Given the description of an element on the screen output the (x, y) to click on. 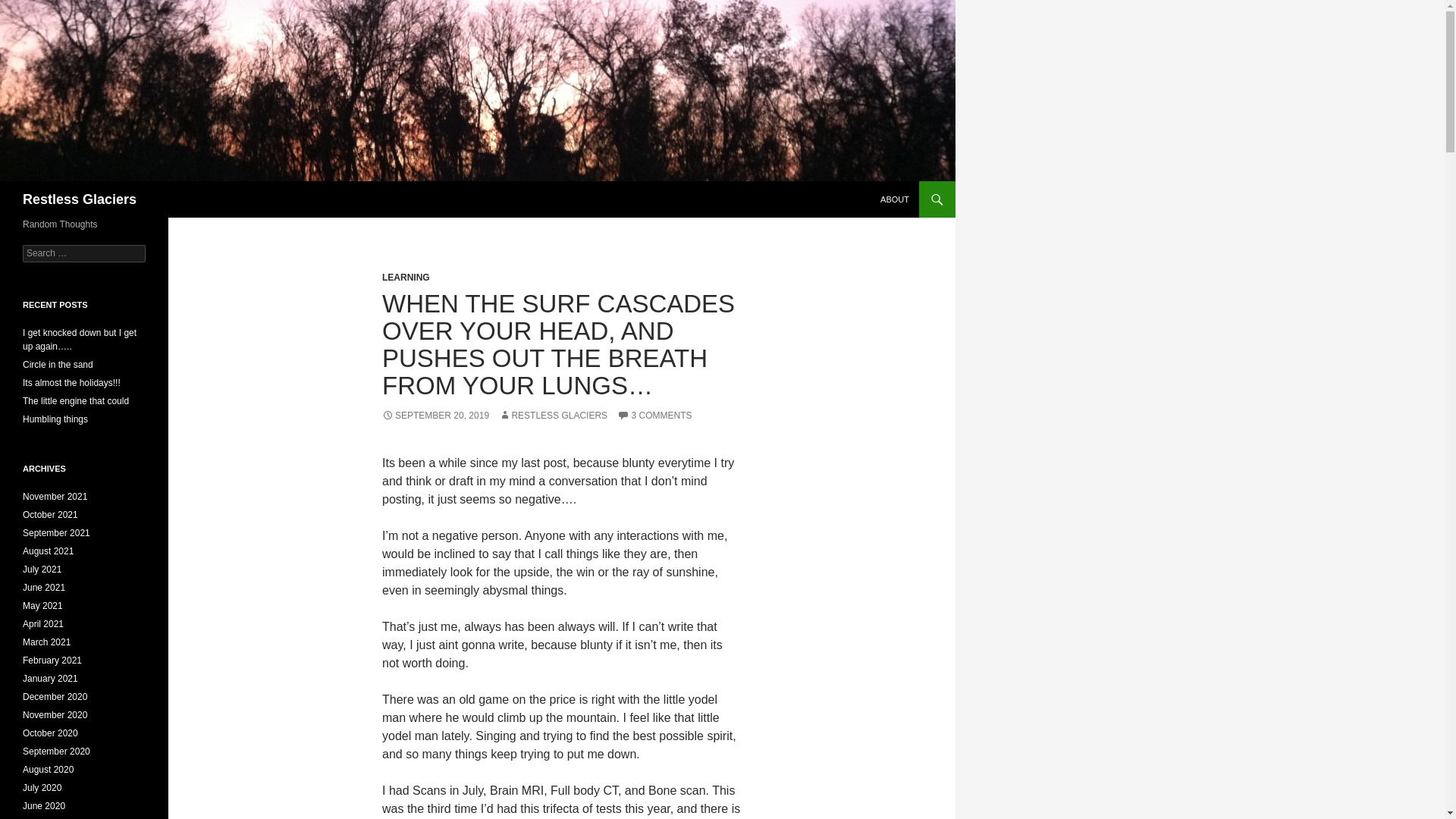
Humbling things (55, 419)
November 2021 (55, 496)
RESTLESS GLACIERS (553, 415)
Circle in the sand (58, 364)
February 2021 (52, 660)
January 2021 (50, 678)
Restless Glaciers (79, 198)
April 2021 (43, 624)
3 COMMENTS (654, 415)
August 2021 (48, 551)
October 2021 (50, 514)
Its almost the holidays!!! (71, 382)
LEARNING (405, 276)
September 2021 (56, 532)
May 2021 (42, 605)
